Given the description of an element on the screen output the (x, y) to click on. 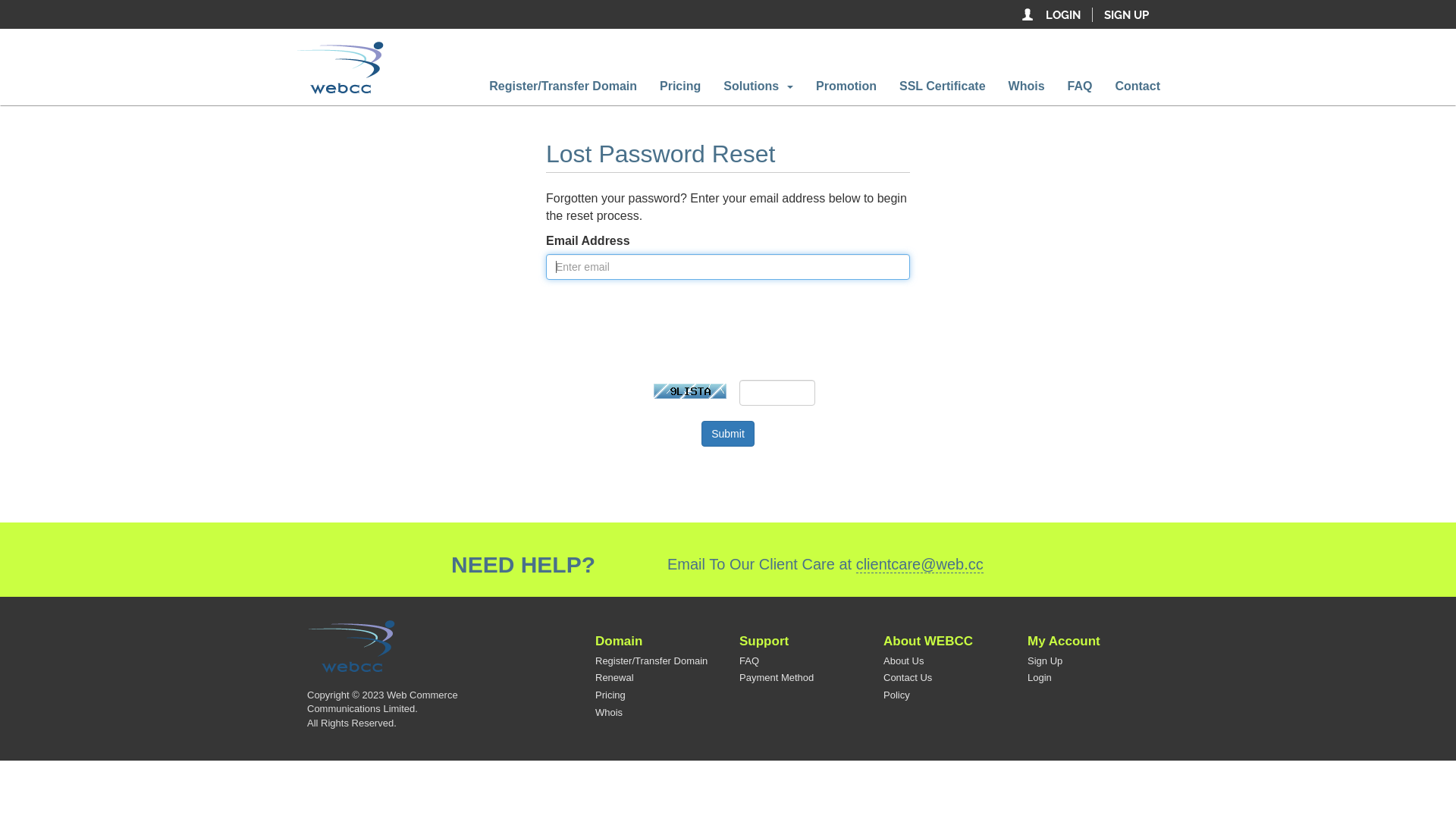
Promotion Element type: text (846, 86)
Payment Method Element type: text (776, 677)
Whois Element type: text (1026, 86)
Sign Up Element type: text (1044, 660)
FAQ Element type: text (749, 660)
Contact Element type: text (1137, 86)
Pricing Element type: text (610, 694)
SIGN UP Element type: text (1126, 14)
FAQ Element type: text (1080, 86)
Contact Us Element type: text (907, 677)
SSL Certificate Element type: text (942, 86)
About Us Element type: text (903, 660)
Pricing Element type: text (680, 86)
Register/Transfer Domain Element type: text (651, 660)
Submit Element type: text (727, 433)
Solutions   Element type: text (758, 86)
LOGIN Element type: text (1063, 14)
clientcare@web.cc Element type: text (919, 564)
Login Element type: text (1039, 677)
Renewal Element type: text (614, 677)
Whois Element type: text (608, 712)
Policy Element type: text (896, 694)
Register/Transfer Domain Element type: text (562, 86)
